Given the description of an element on the screen output the (x, y) to click on. 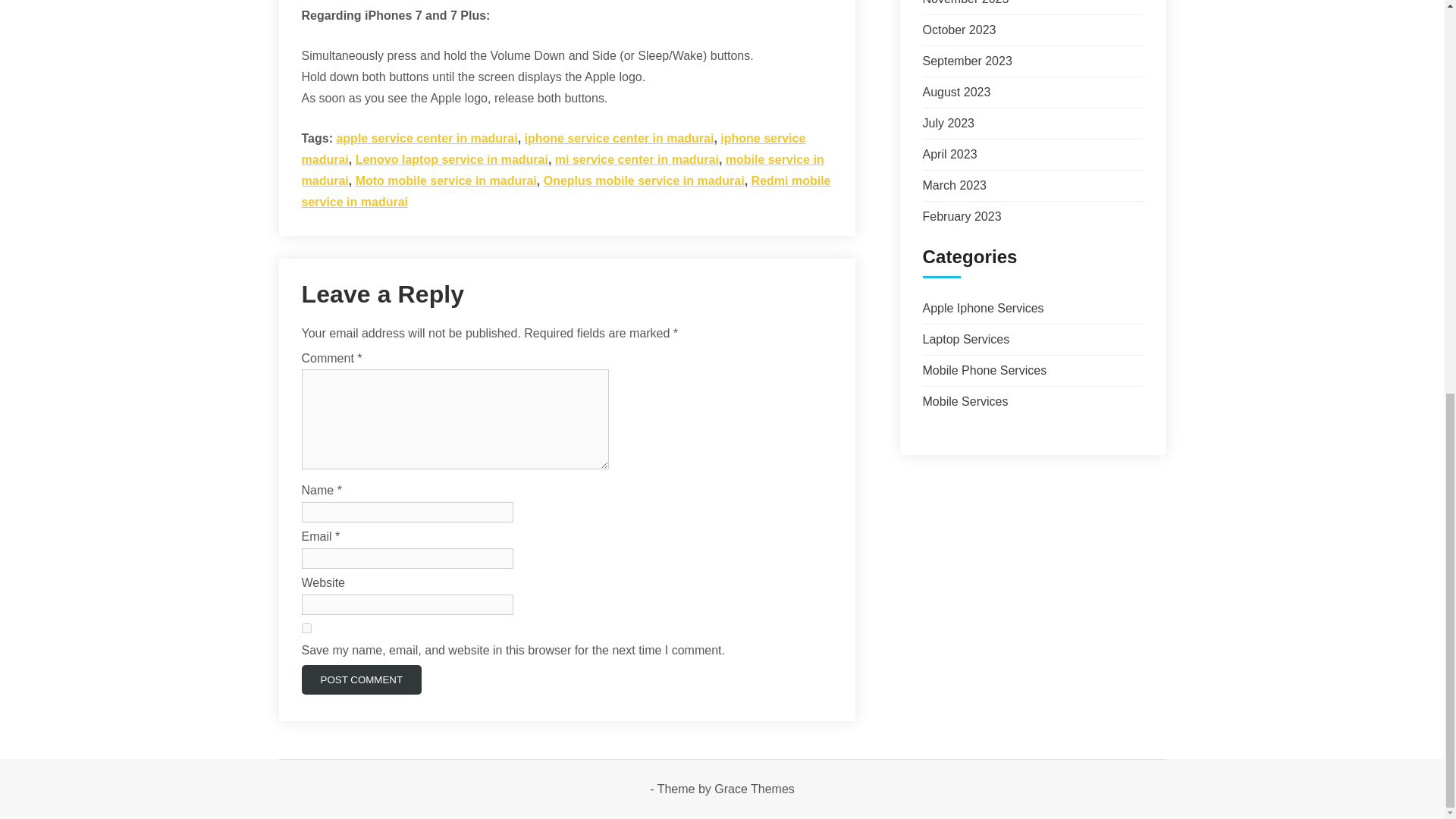
July 2023 (947, 123)
mobile service in madurai (562, 170)
Post Comment (361, 679)
April 2023 (948, 154)
apple service center in madurai (426, 137)
September 2023 (966, 60)
Post Comment (361, 679)
Oneplus mobile service in madurai (643, 180)
yes (306, 628)
March 2023 (954, 185)
Redmi mobile service in madurai (566, 191)
iphone service center in madurai (619, 137)
Laptop Services (965, 338)
iphone service madurai (553, 148)
November 2023 (965, 2)
